Given the description of an element on the screen output the (x, y) to click on. 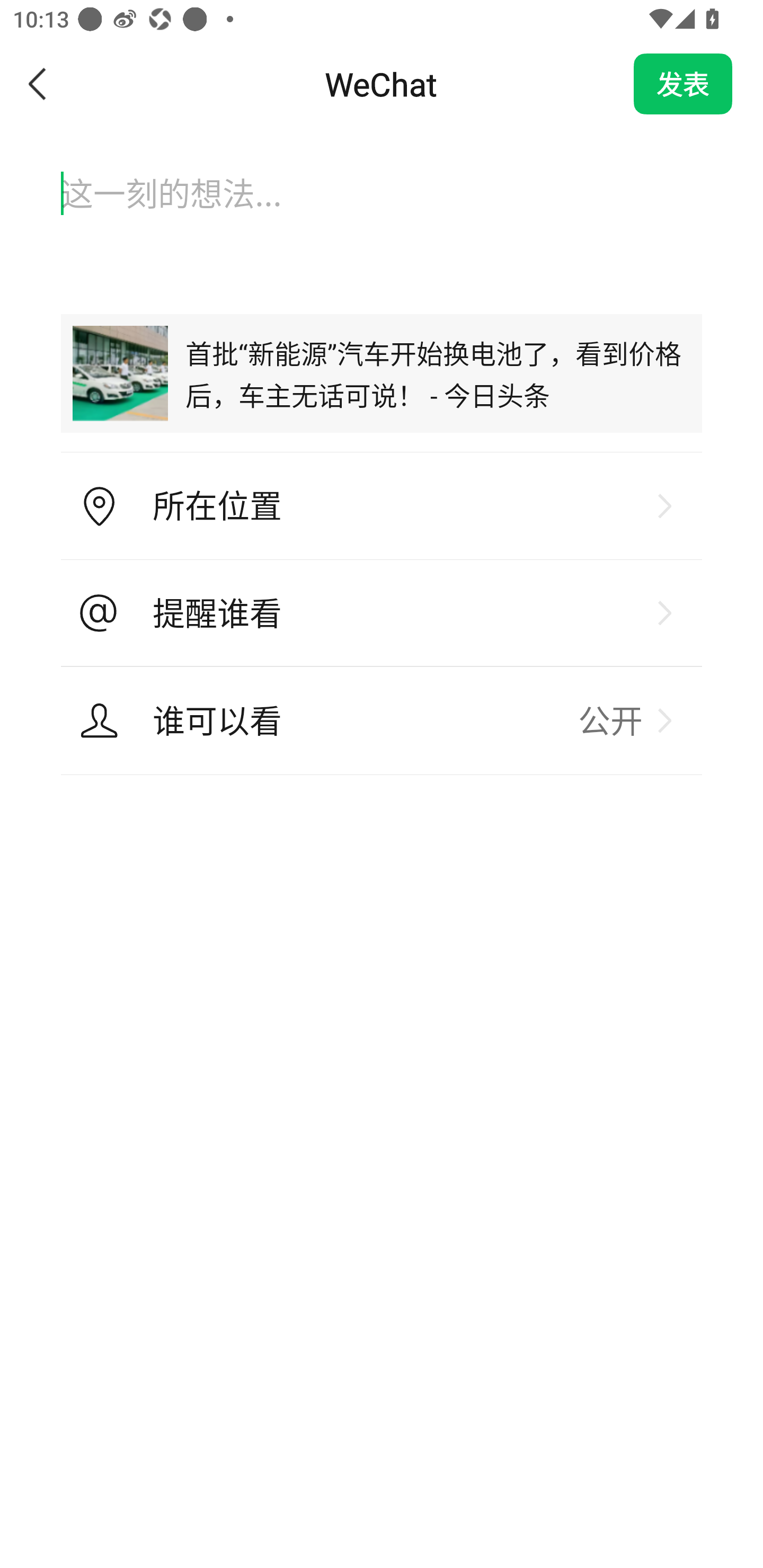
返回 (38, 83)
发表 (683, 83)
这一刻的想法... (381, 211)
首批“新能源”汽车开始换电池了，看到价格后，车主无话可说！ - 今日头条 (381, 372)
所在位置 (381, 506)
提醒谁看  提醒谁看 (381, 612)
谁可以看 公开 (381, 720)
